Given the description of an element on the screen output the (x, y) to click on. 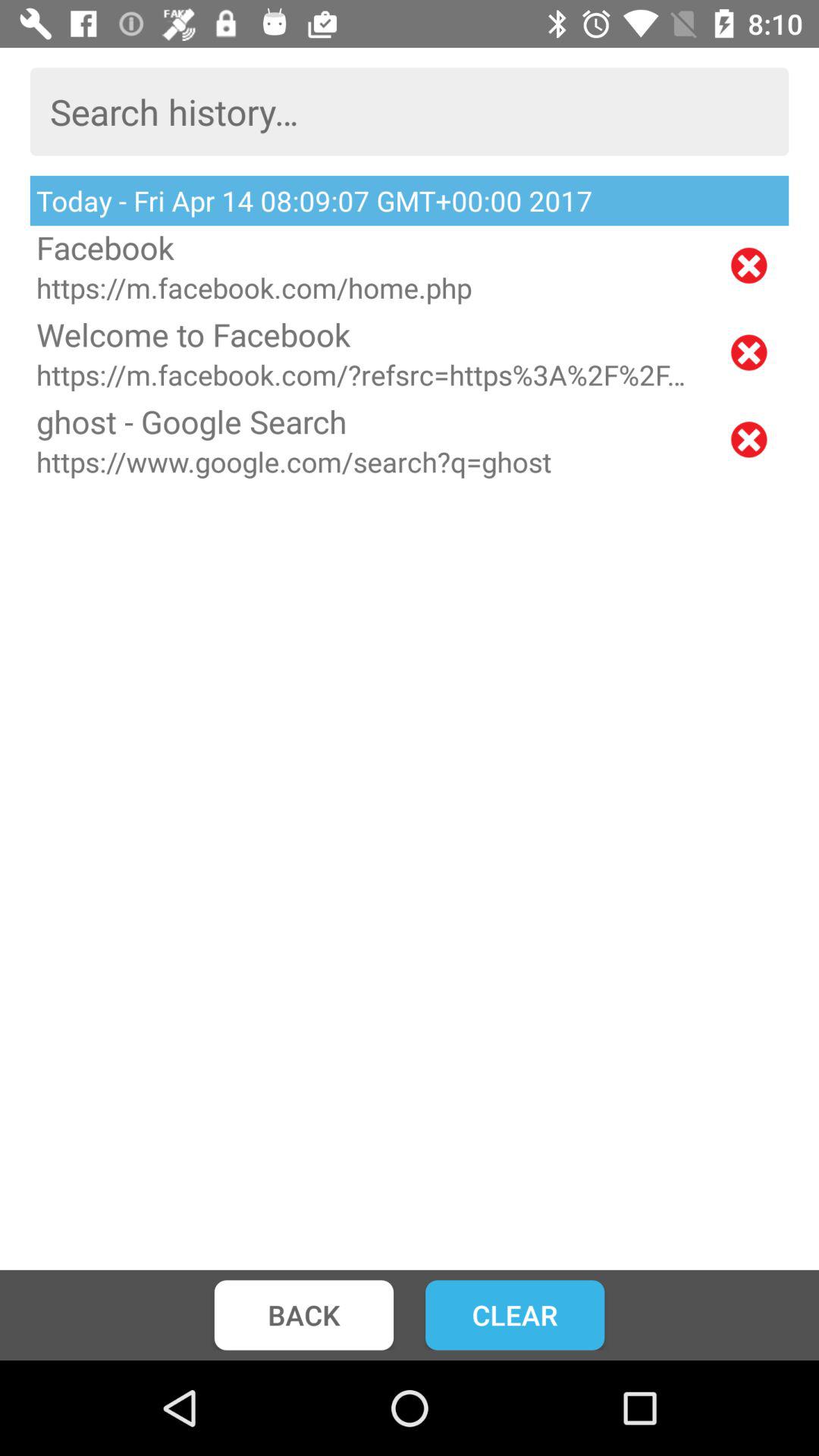
tap the icon above https m facebook item (369, 334)
